Given the description of an element on the screen output the (x, y) to click on. 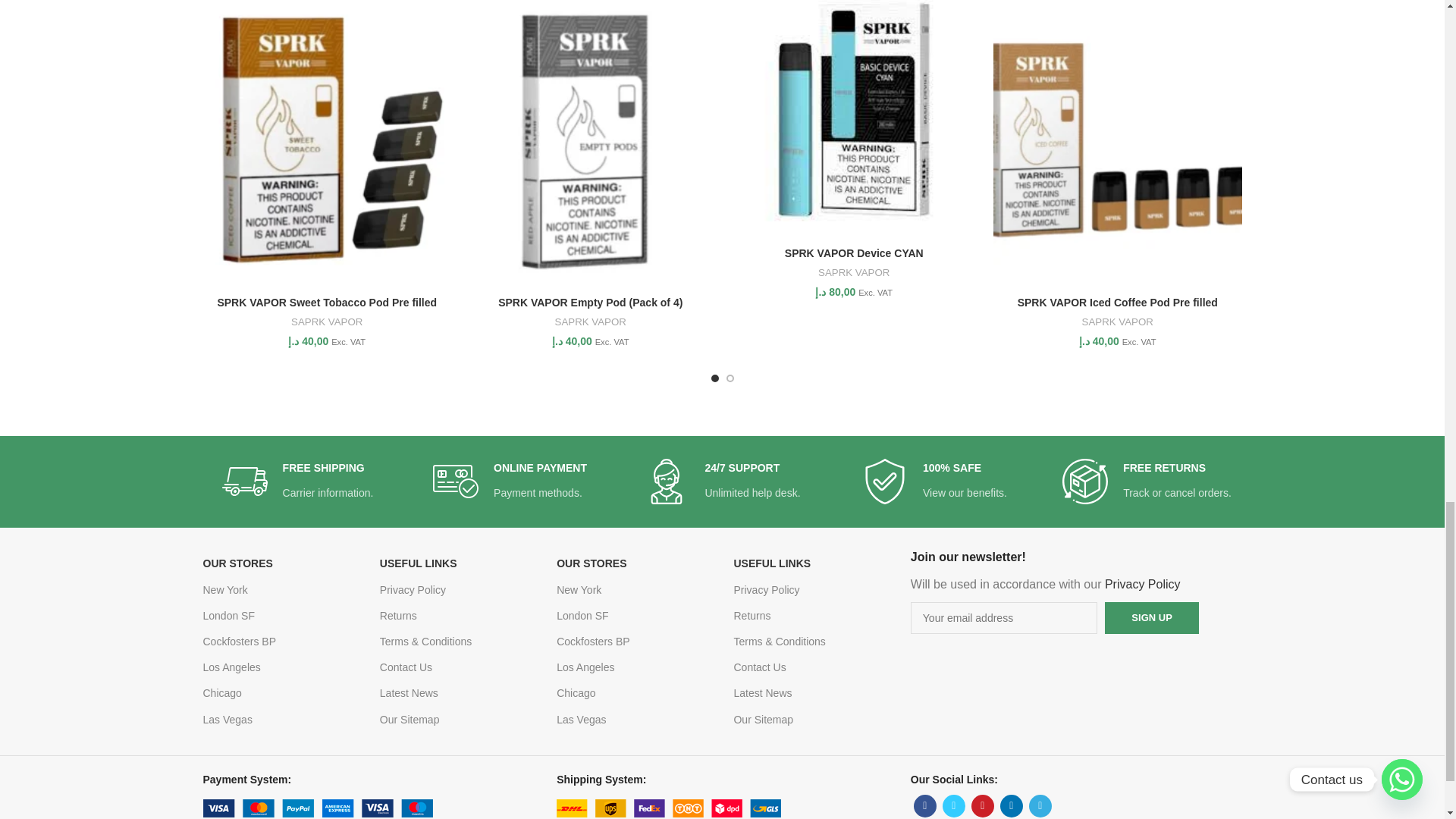
Sign up (1151, 617)
